Given the description of an element on the screen output the (x, y) to click on. 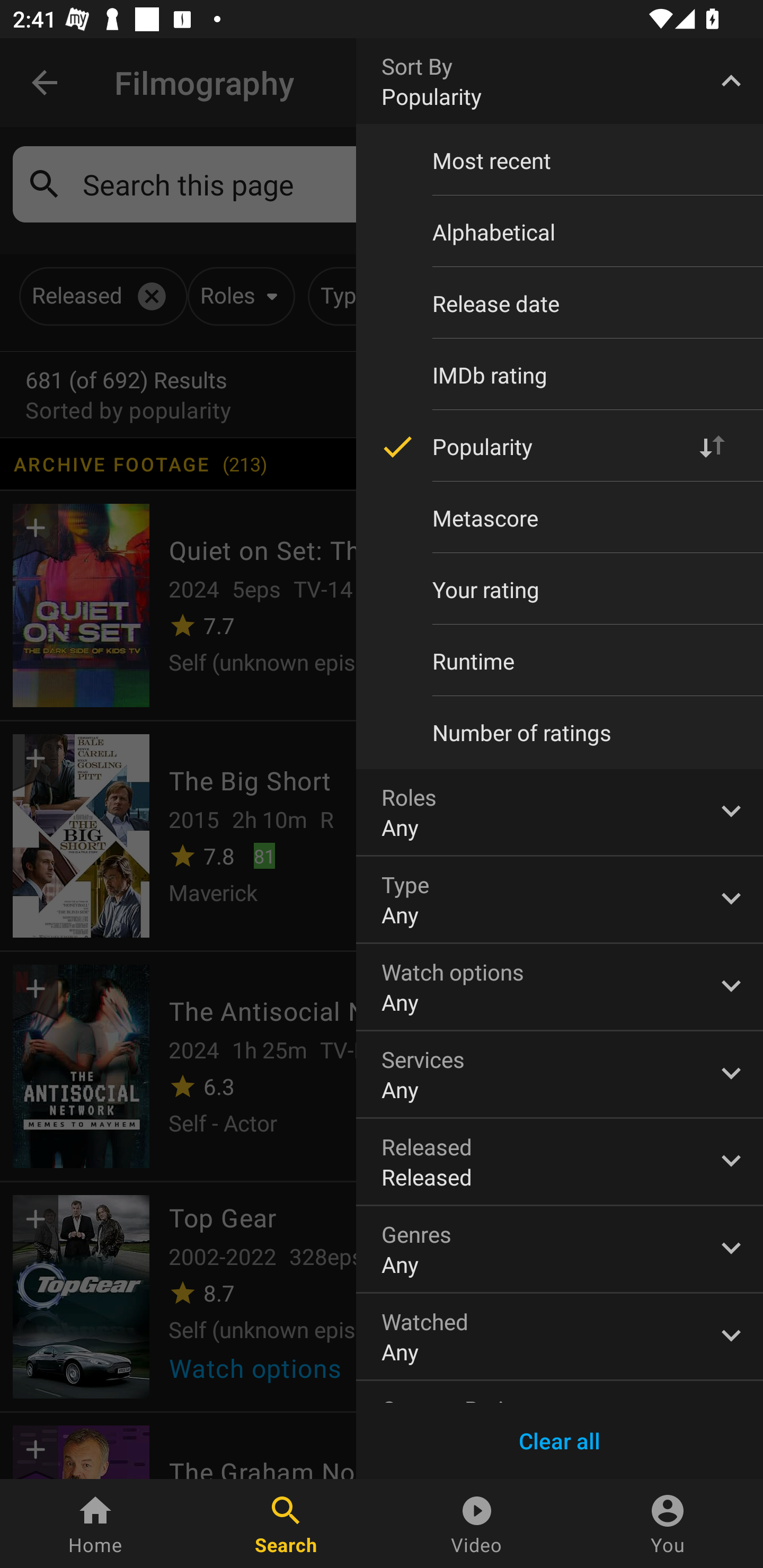
Sort By Popularity (559, 80)
Most recent (559, 160)
Alphabetical (559, 231)
Release date (559, 303)
IMDb rating (559, 374)
Popularity (559, 445)
Metascore (559, 517)
Your rating (559, 589)
Runtime (559, 660)
Number of ratings (559, 732)
Roles Any (559, 811)
Type Any (559, 899)
Watch options Any (559, 986)
Services Any (559, 1073)
Released (559, 1161)
Genres Any (559, 1248)
Watched Any (559, 1336)
Clear all (559, 1440)
Home (95, 1523)
Video (476, 1523)
You (667, 1523)
